Given the description of an element on the screen output the (x, y) to click on. 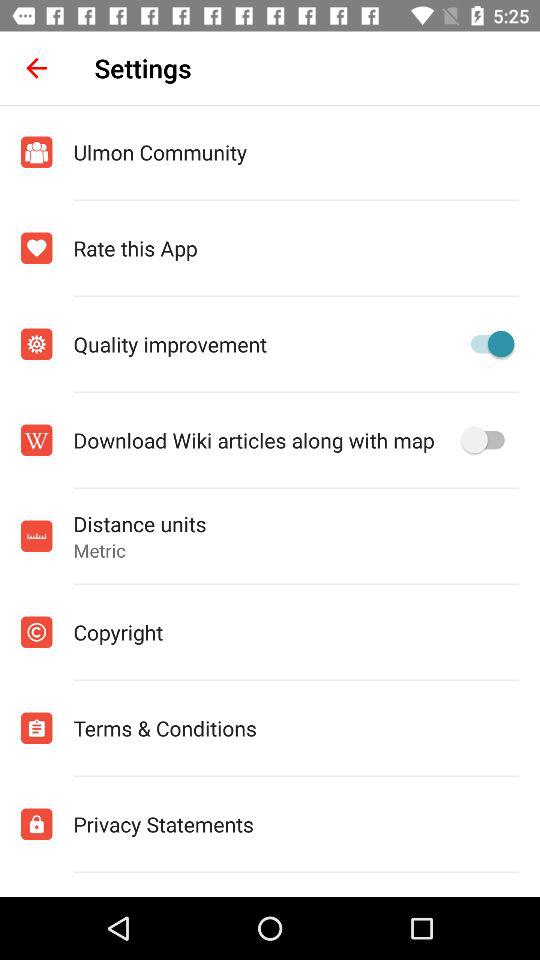
toggle download wiki option on off (487, 439)
